Given the description of an element on the screen output the (x, y) to click on. 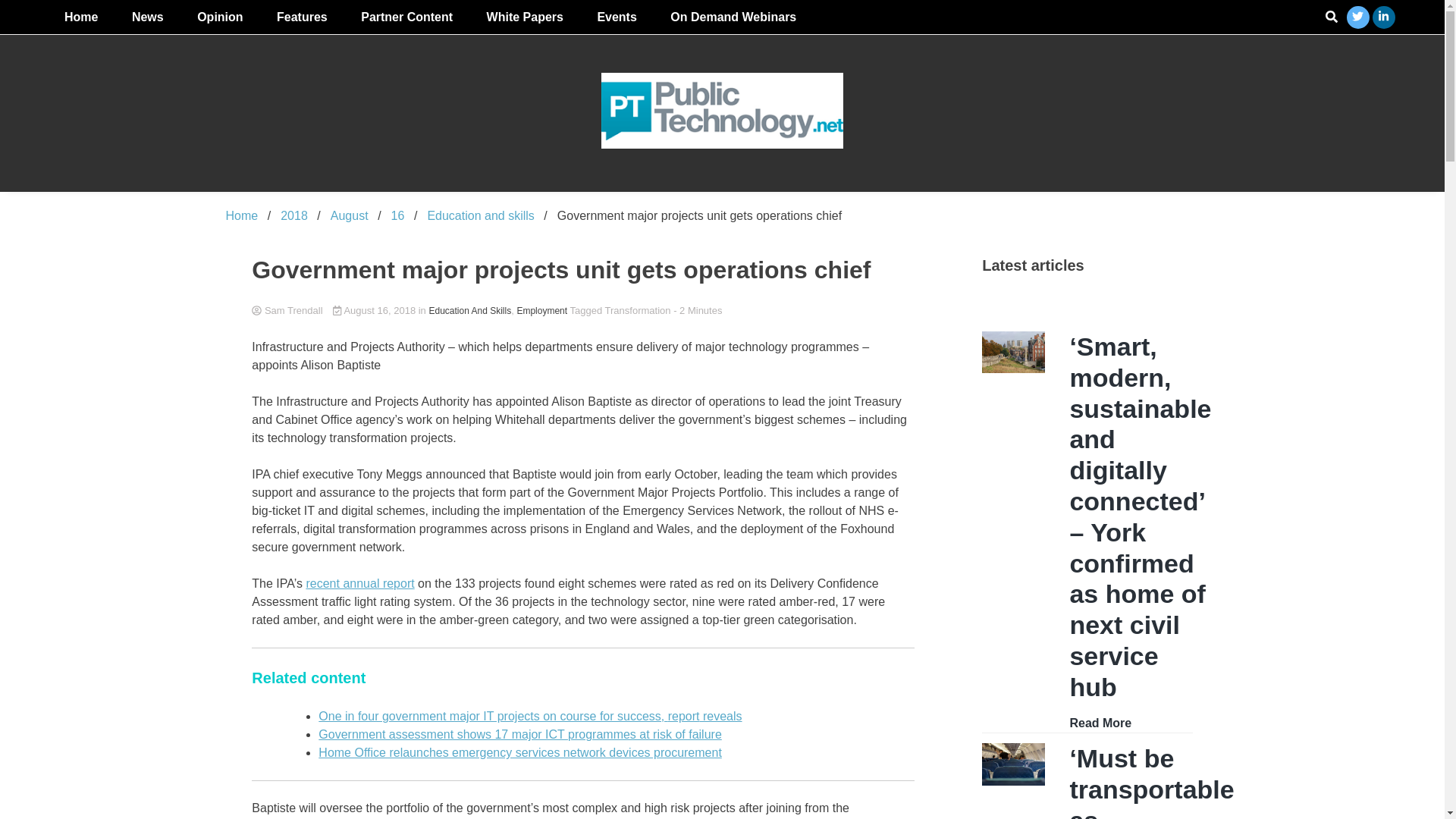
2018 (294, 215)
Events (615, 17)
White Papers (524, 17)
August (349, 215)
On Demand Webinars (732, 17)
Transformation (638, 310)
report (684, 716)
Home (81, 17)
Partner Content (406, 17)
Home (242, 215)
16 (397, 215)
Education And Skills (469, 310)
